Given the description of an element on the screen output the (x, y) to click on. 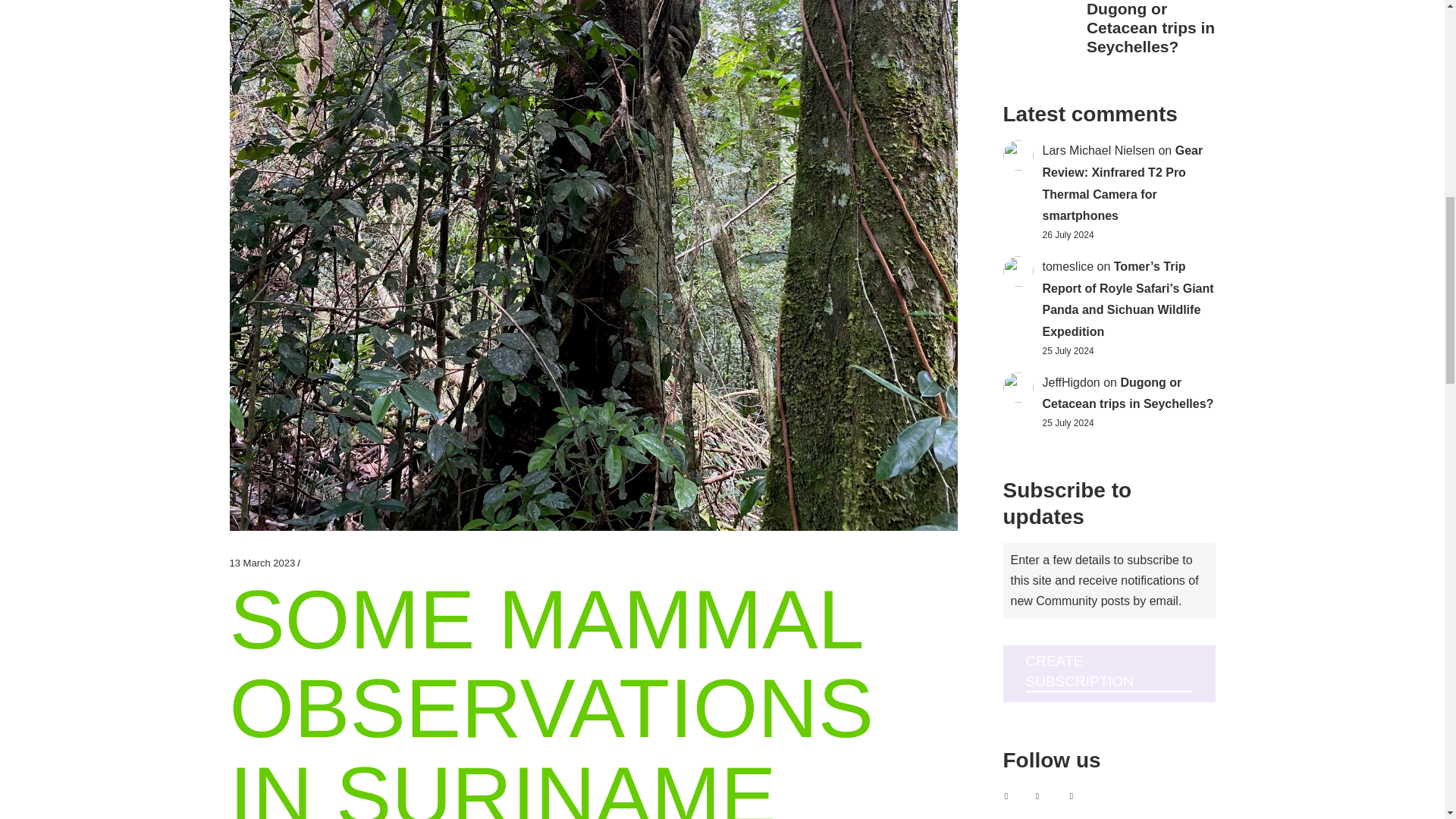
Title Text:  (261, 563)
